Given the description of an element on the screen output the (x, y) to click on. 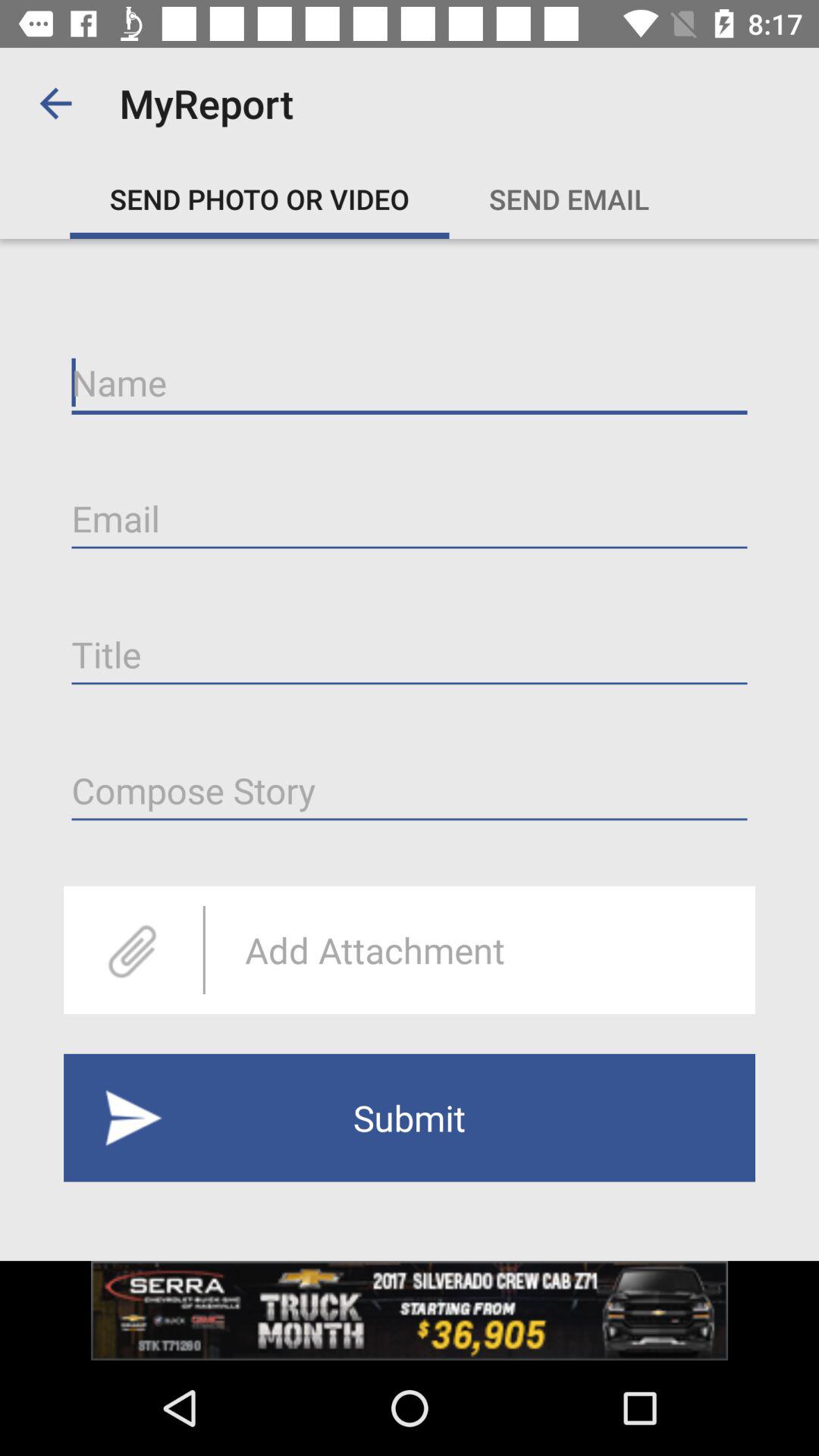
compose story (409, 791)
